Given the description of an element on the screen output the (x, y) to click on. 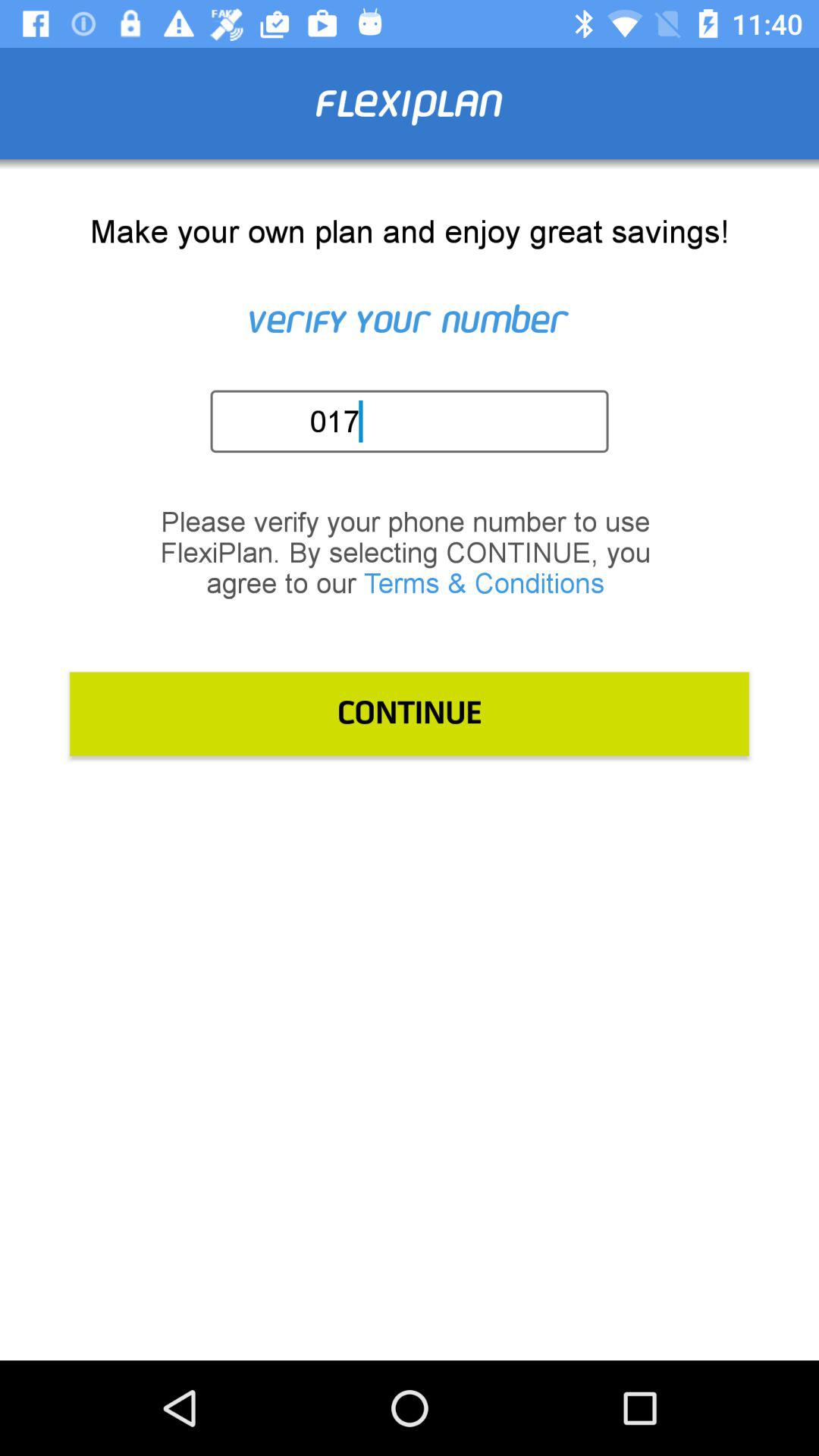
turn off item above please verify your item (413, 421)
